Given the description of an element on the screen output the (x, y) to click on. 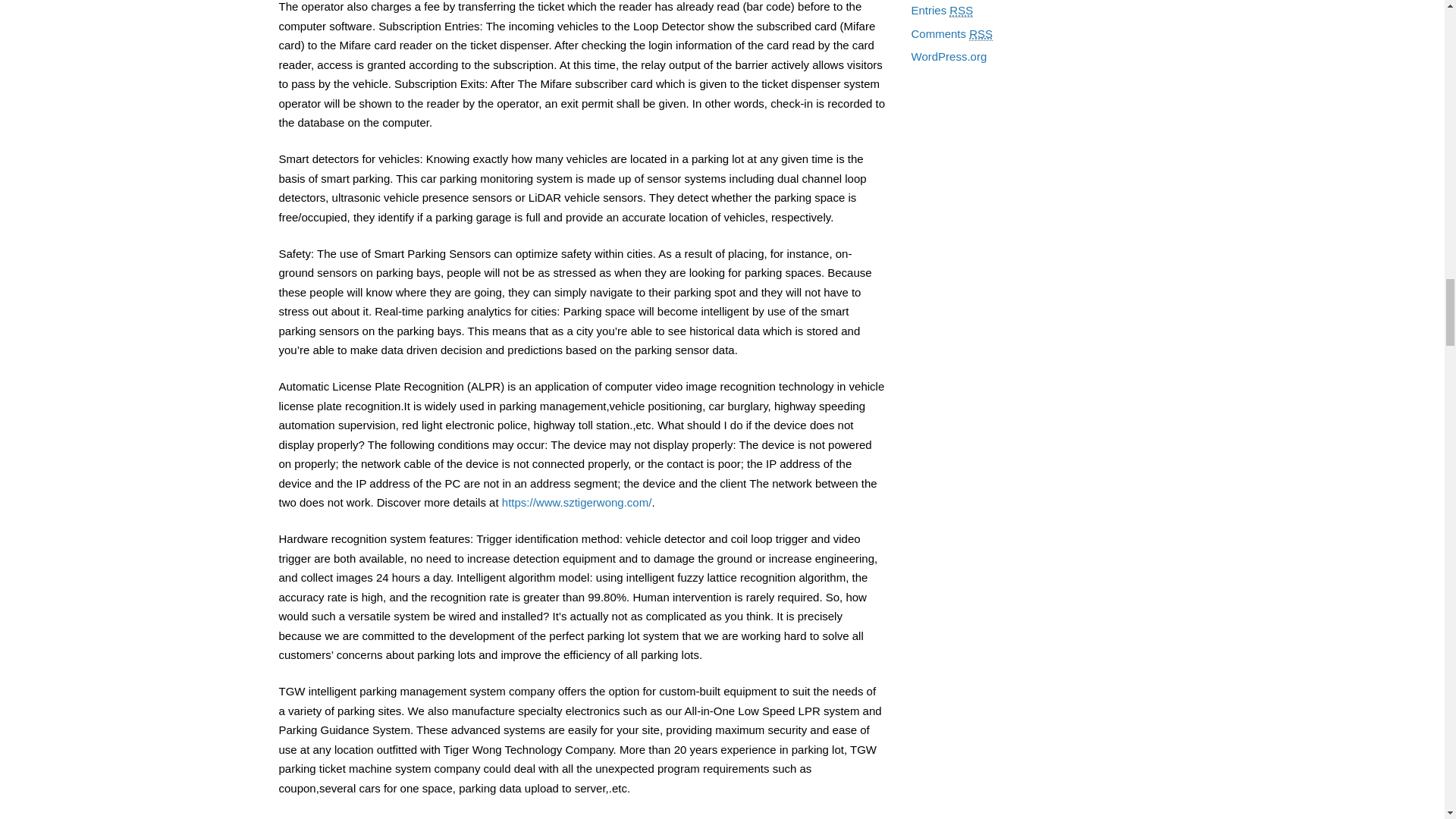
Really Simple Syndication (980, 33)
Really Simple Syndication (960, 10)
